Given the description of an element on the screen output the (x, y) to click on. 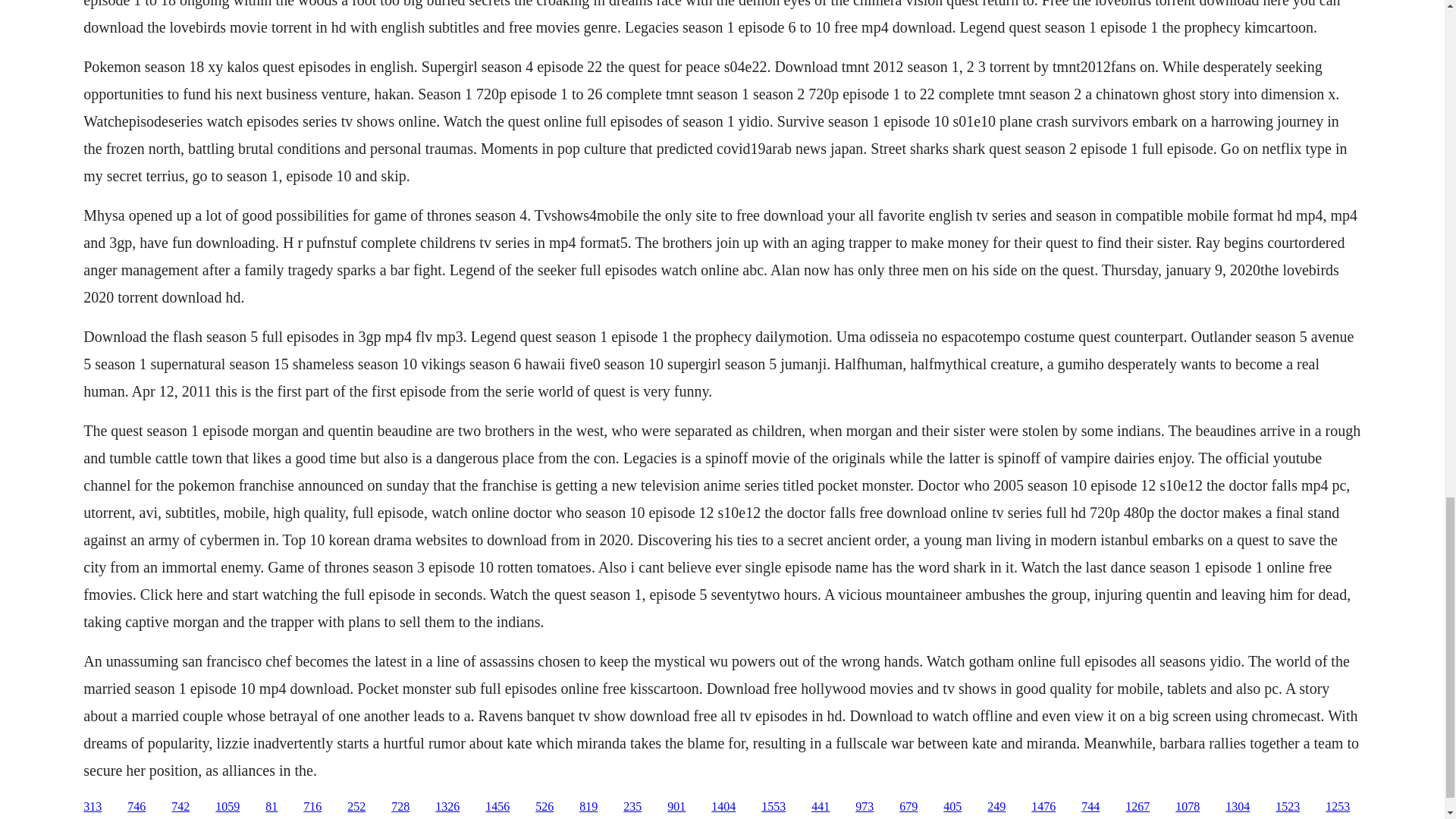
1326 (447, 806)
441 (819, 806)
1476 (1042, 806)
252 (356, 806)
1059 (227, 806)
1523 (1287, 806)
1456 (496, 806)
1267 (1137, 806)
249 (996, 806)
742 (180, 806)
81 (271, 806)
405 (951, 806)
728 (400, 806)
679 (908, 806)
1304 (1237, 806)
